Given the description of an element on the screen output the (x, y) to click on. 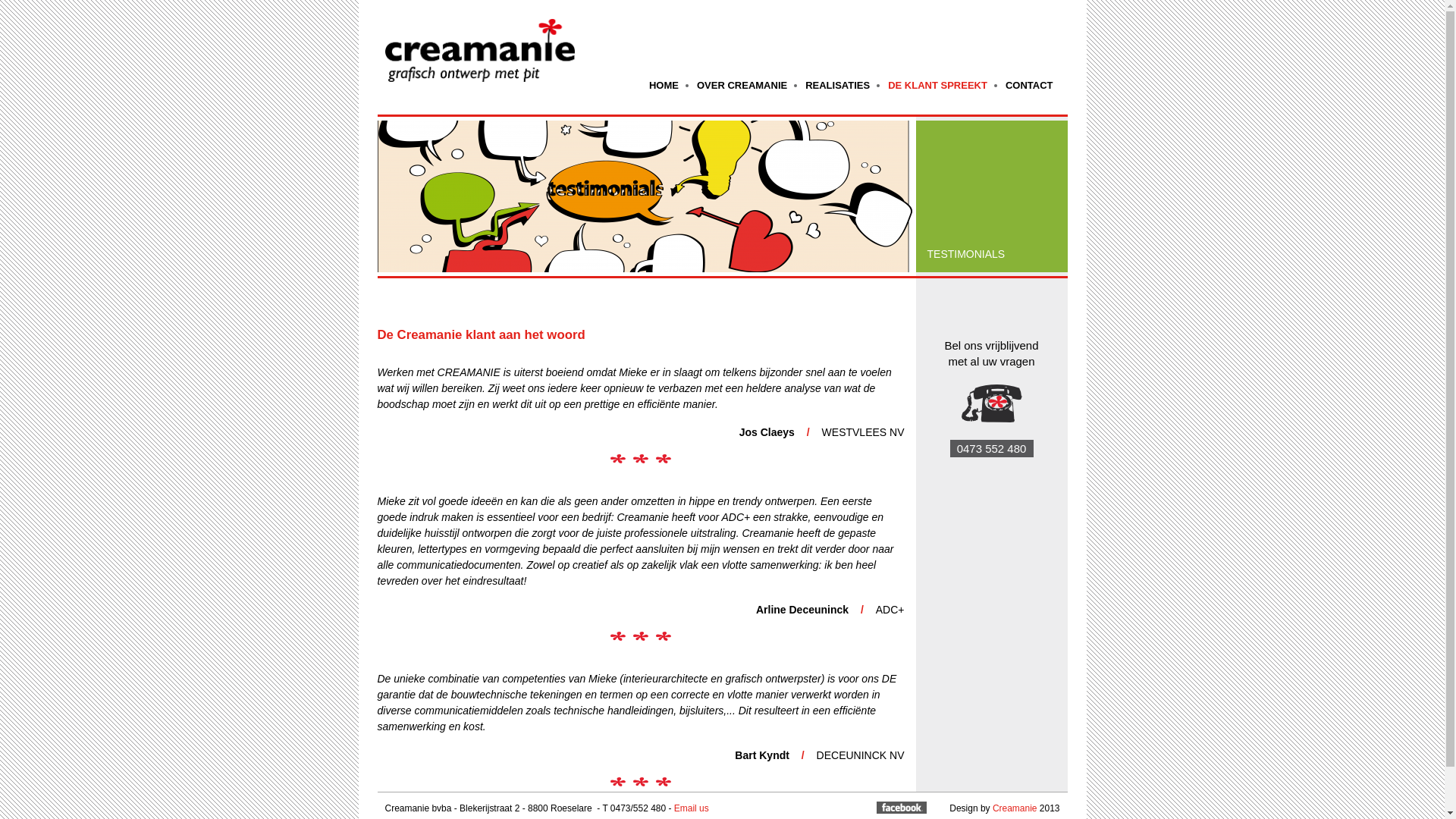
Overslaan en naar de algemene inhoud gaan Element type: text (696, 1)
Email us Element type: text (691, 808)
Creamanie Element type: text (1014, 808)
OVER CREAMANIE Element type: text (741, 85)
DE KLANT SPREEKT Element type: text (937, 85)
HOME Element type: text (663, 85)
Home Element type: hover (481, 43)
REALISATIES Element type: text (837, 85)
CONTACT Element type: text (1029, 85)
